Given the description of an element on the screen output the (x, y) to click on. 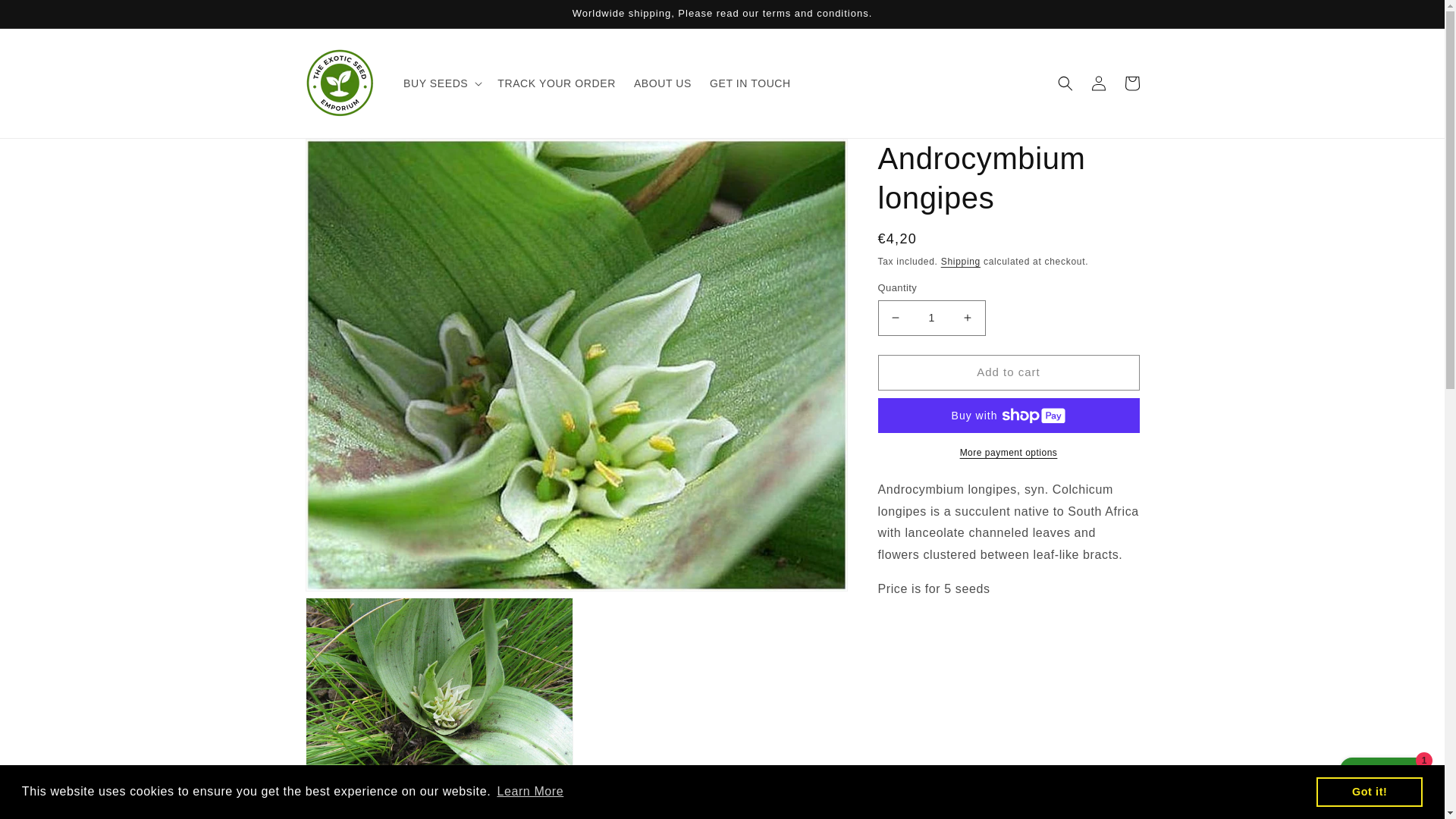
Got it! (1369, 791)
Learn More (530, 791)
1 (931, 317)
GET IN TOUCH (749, 83)
TRACK YOUR ORDER (555, 83)
ABOUT US (662, 83)
Skip to content (45, 17)
Shopify online store chat (1383, 781)
